Given the description of an element on the screen output the (x, y) to click on. 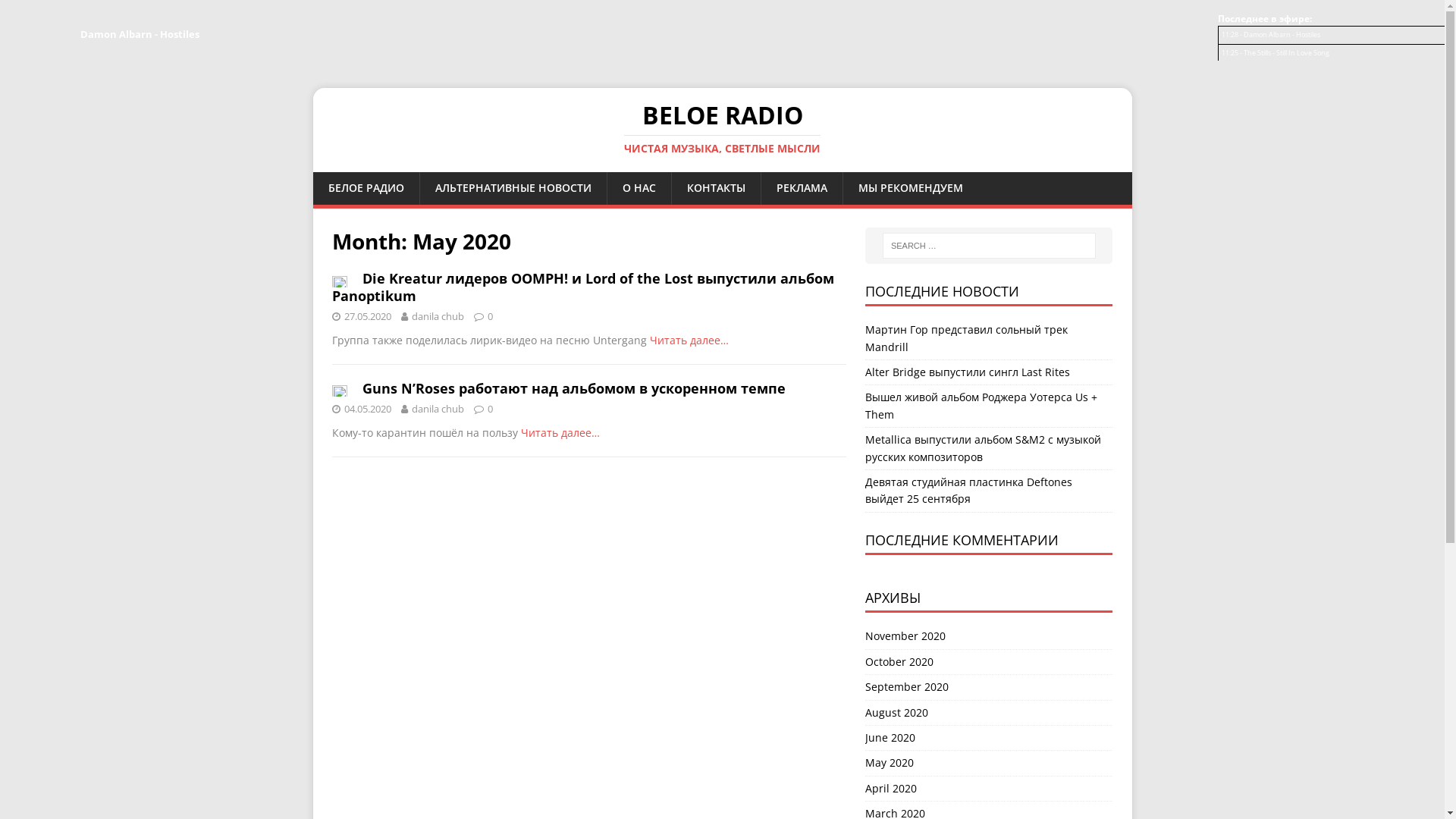
0 Element type: text (489, 408)
October 2020 Element type: text (988, 661)
April 2020 Element type: text (988, 788)
November 2020 Element type: text (988, 637)
September 2020 Element type: text (988, 686)
The Stills - Still In Love Song Element type: text (1286, 52)
0 Element type: text (489, 316)
August 2020 Element type: text (988, 712)
May 2020 Element type: text (988, 762)
danila chub Element type: text (437, 316)
Damon Albarn - Hostiles Element type: text (1281, 34)
June 2020 Element type: text (988, 737)
danila chub Element type: text (437, 408)
Search Element type: text (56, 11)
